Given the description of an element on the screen output the (x, y) to click on. 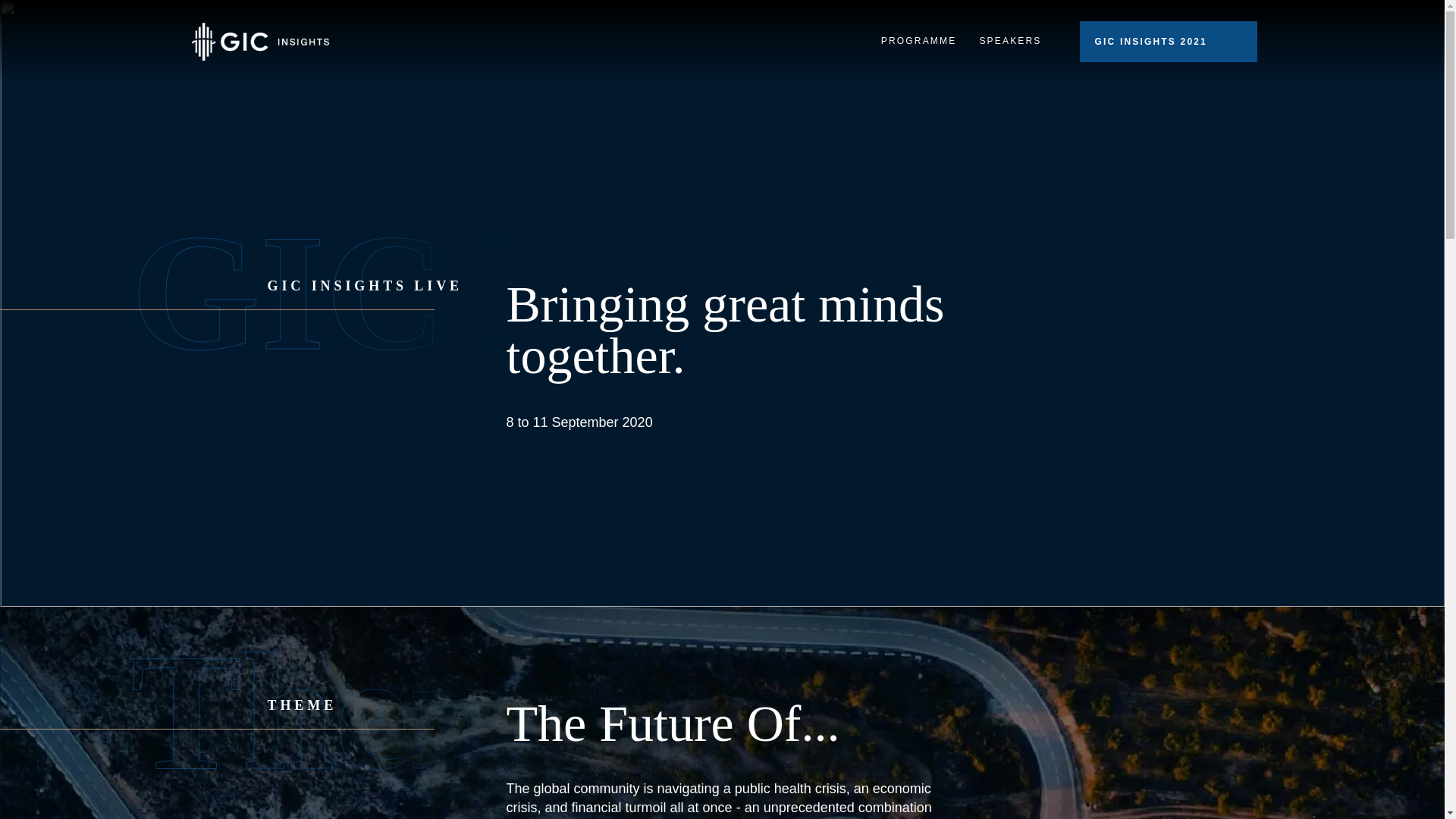
PROGRAMME (918, 41)
SPEAKERS (1010, 41)
GIC INSIGHTS 2021 (1168, 41)
